Given the description of an element on the screen output the (x, y) to click on. 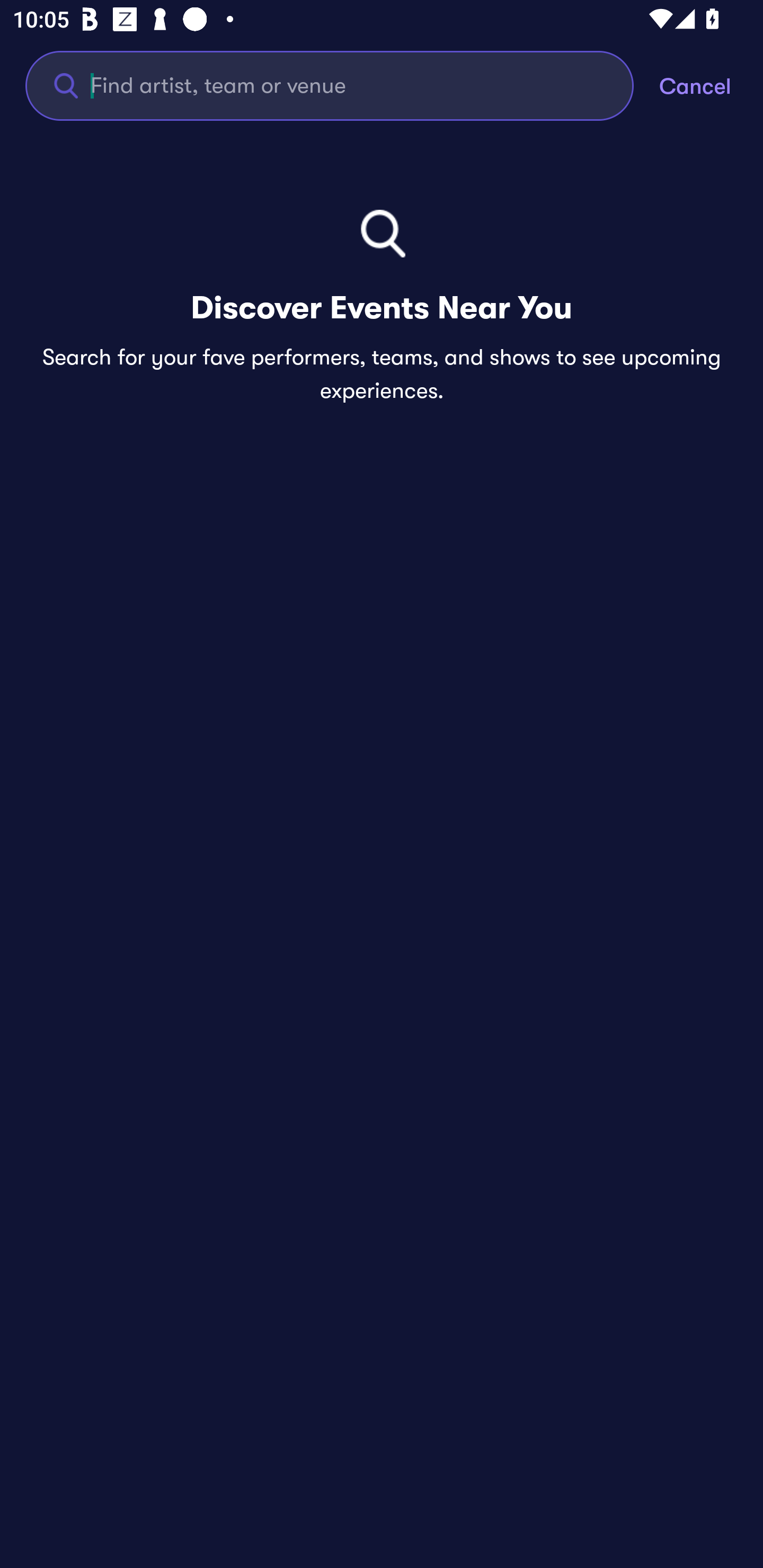
Cancel (711, 85)
Find artist, team or venue Find (329, 85)
Find artist, team or venue Find (341, 85)
